Given the description of an element on the screen output the (x, y) to click on. 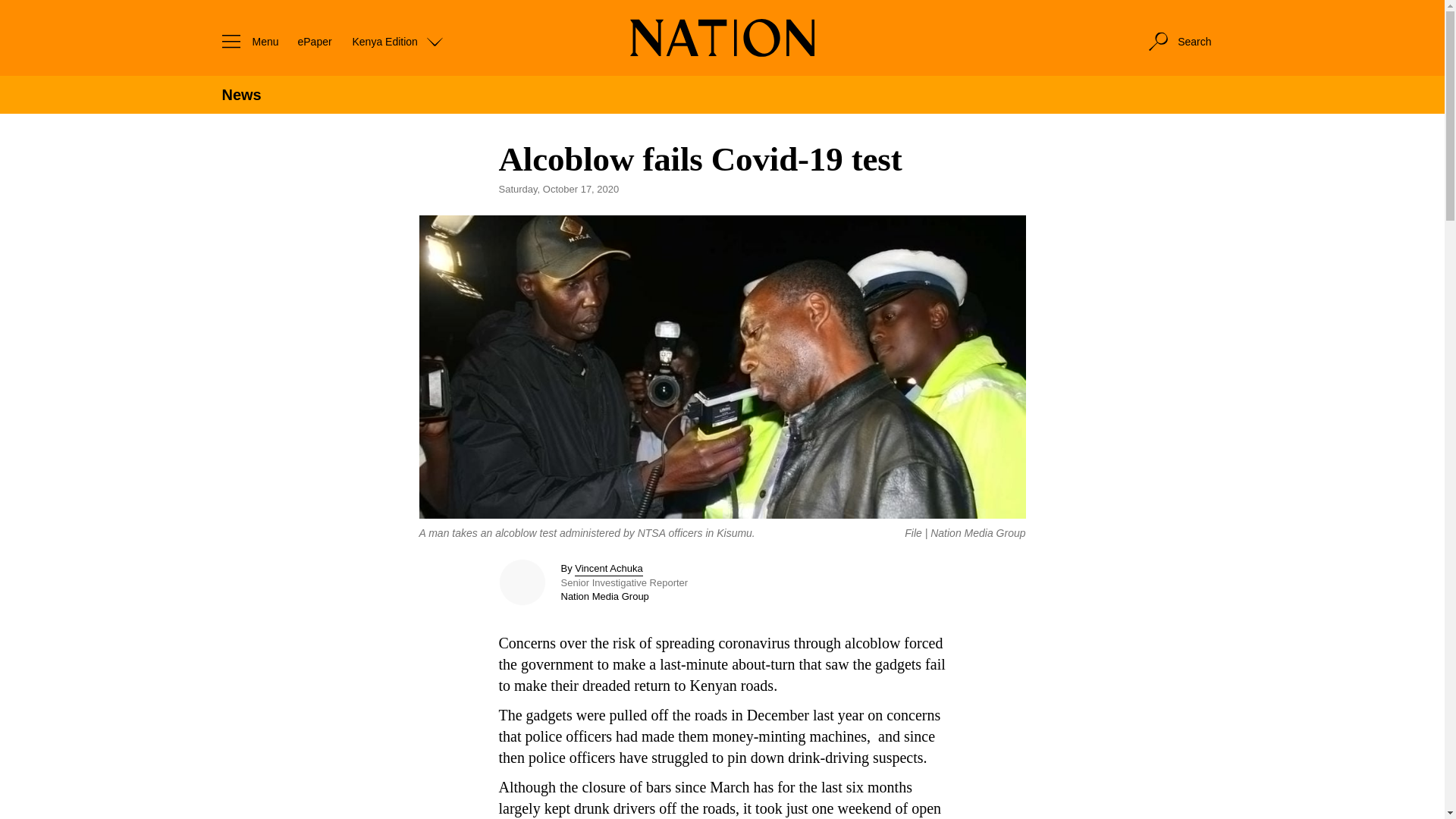
Search (1178, 41)
Menu (246, 41)
Kenya Edition (398, 41)
News (240, 94)
ePaper (314, 41)
